Given the description of an element on the screen output the (x, y) to click on. 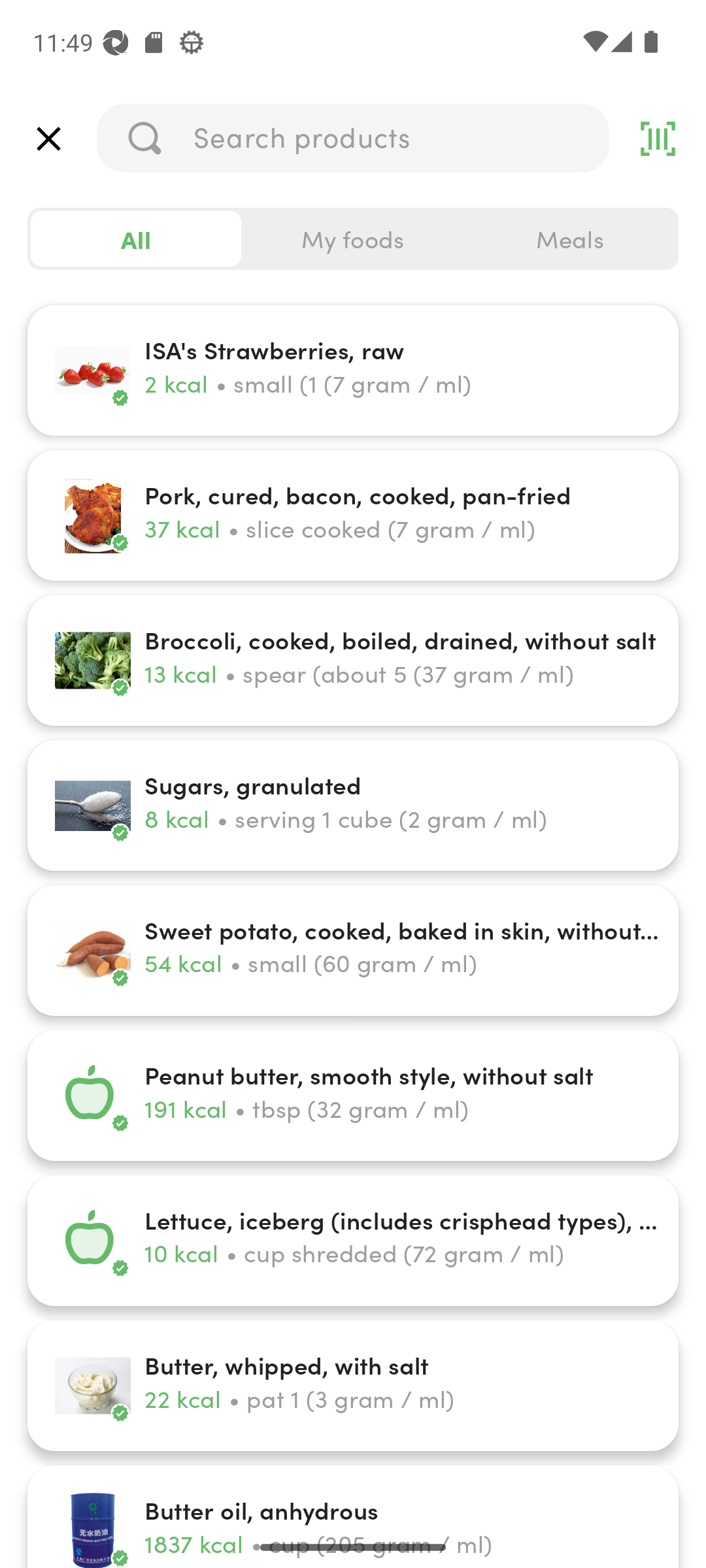
top_left_action (48, 138)
top_right_action (658, 138)
My foods (352, 238)
Meals (569, 238)
